Given the description of an element on the screen output the (x, y) to click on. 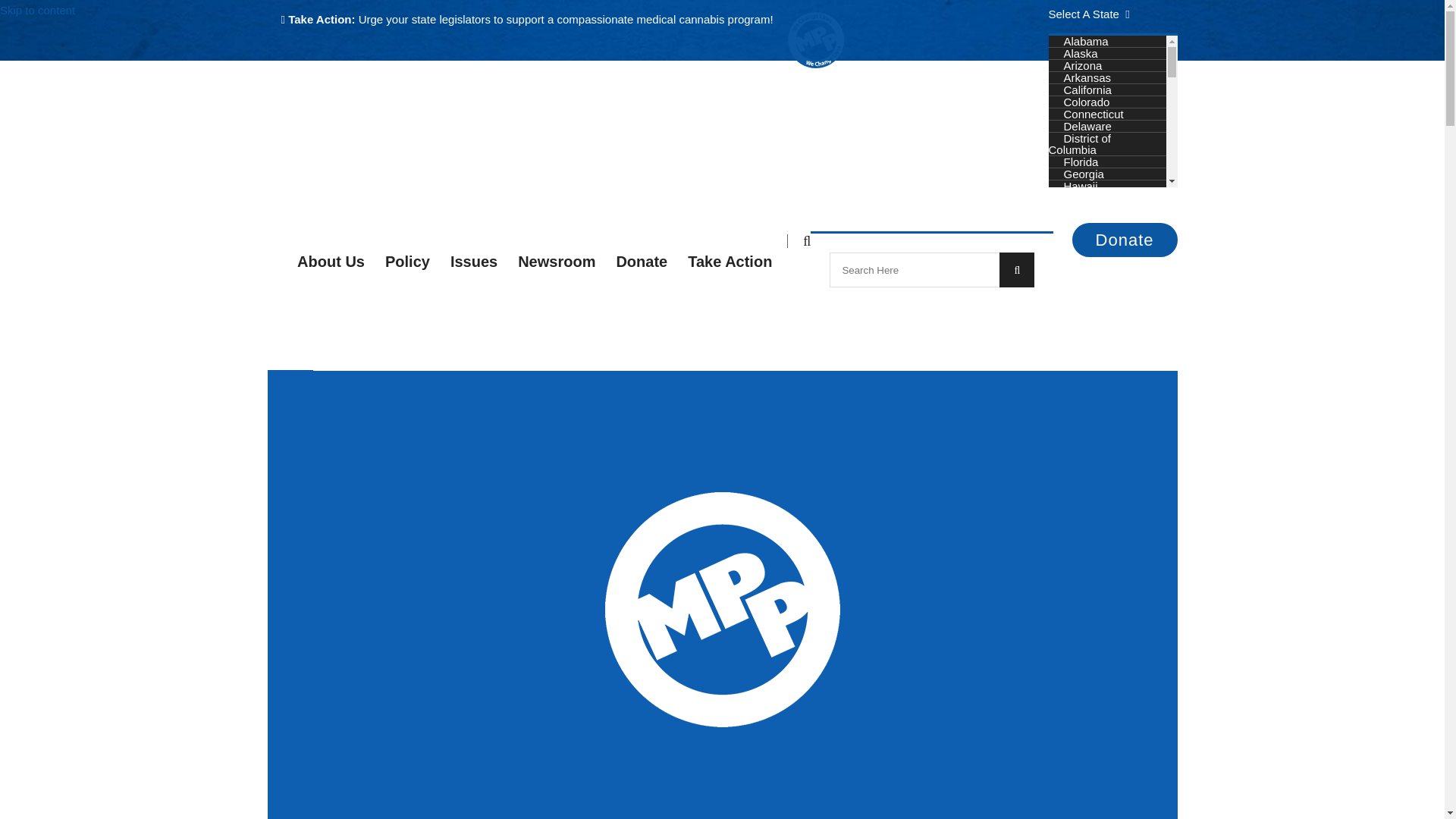
New Jersey (1092, 416)
Ohio (1075, 477)
Oklahoma (1088, 489)
Illinois (1078, 210)
District of Columbia (1079, 143)
Select A State   (1088, 14)
New Mexico (1094, 428)
New Hampshire (1103, 404)
Skip to content (37, 10)
Iowa (1075, 234)
Arkansas (1086, 77)
Nevada (1083, 392)
Alabama (1085, 41)
Indiana (1081, 222)
Georgia (1083, 173)
